Given the description of an element on the screen output the (x, y) to click on. 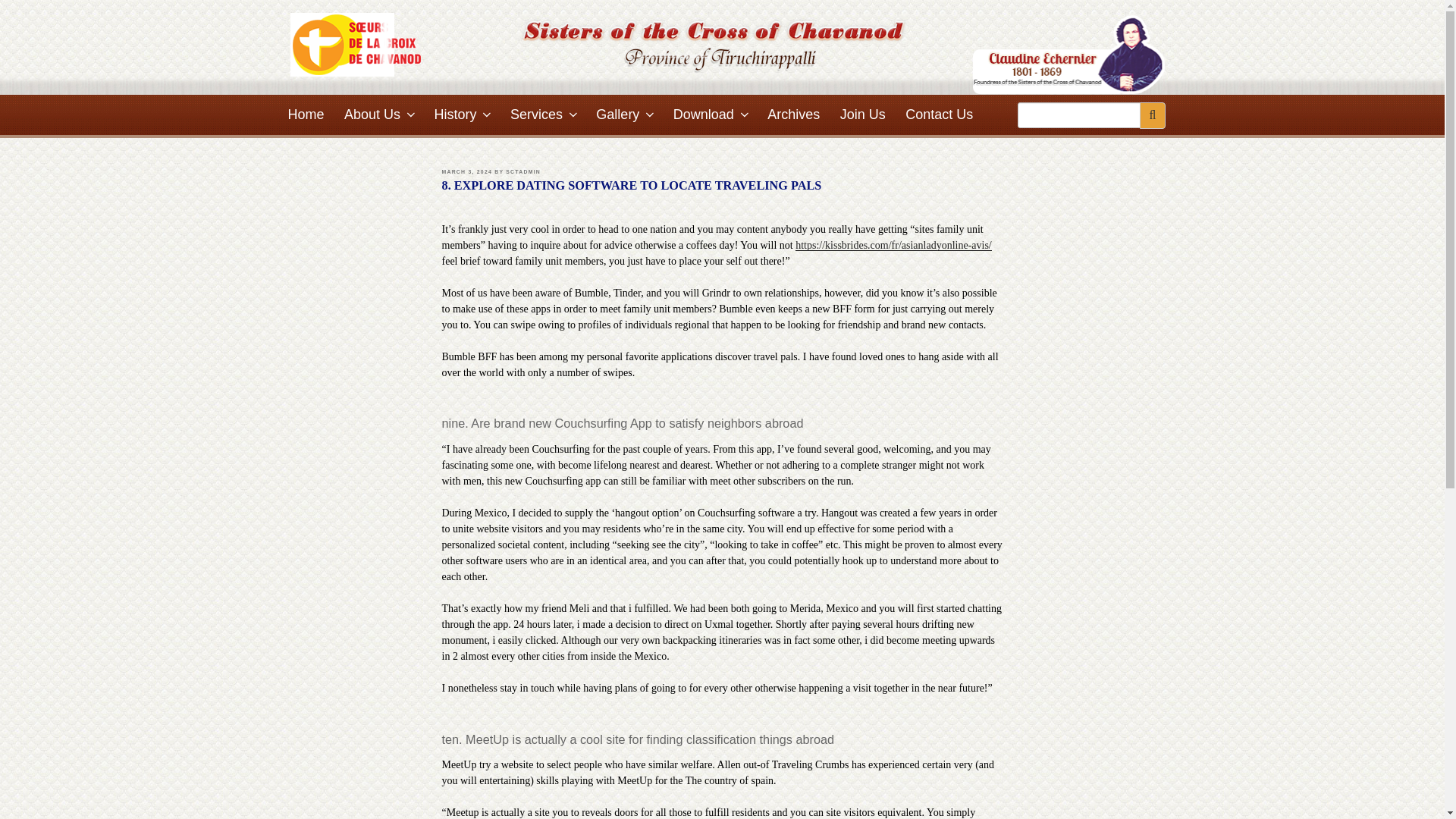
Services (542, 115)
Foundress of the sisters of the cross of Chavanod (1069, 54)
About Us (378, 115)
Home (306, 115)
Gallery (624, 115)
Sisters of the Cross, Trichy (355, 44)
History (462, 115)
